Given the description of an element on the screen output the (x, y) to click on. 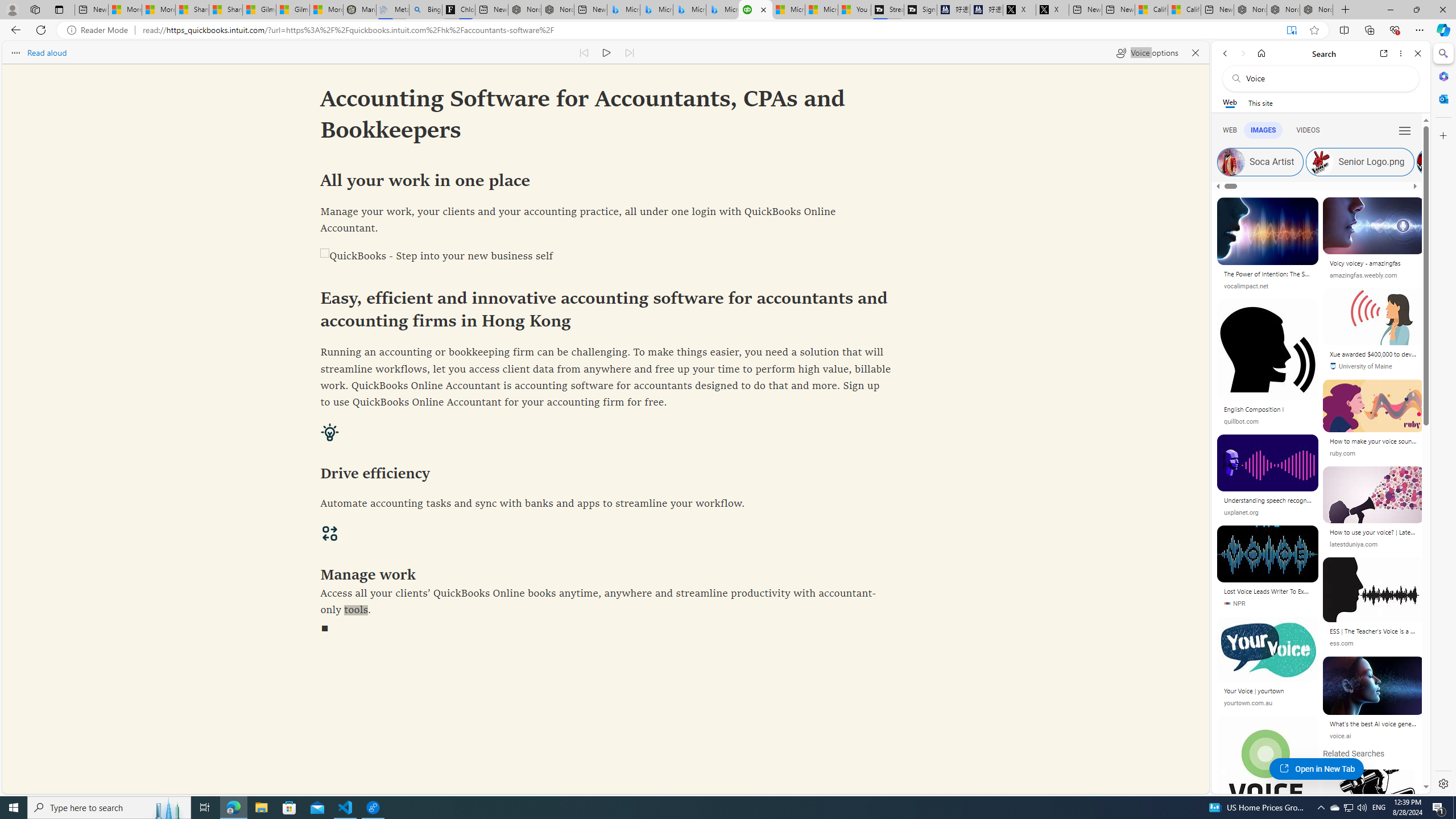
Microsoft Bing Travel - Stays in Bangkok, Bangkok, Thailand (656, 9)
Search Filter, WEB (1230, 129)
amazingfas.weebly.com (1363, 275)
uxplanet.org (1267, 512)
More options (1401, 53)
Open link in new tab (1383, 53)
Close read aloud (1195, 52)
Search the web (1326, 78)
Continue to read aloud (Ctrl+Shift+U) (606, 52)
